Given the description of an element on the screen output the (x, y) to click on. 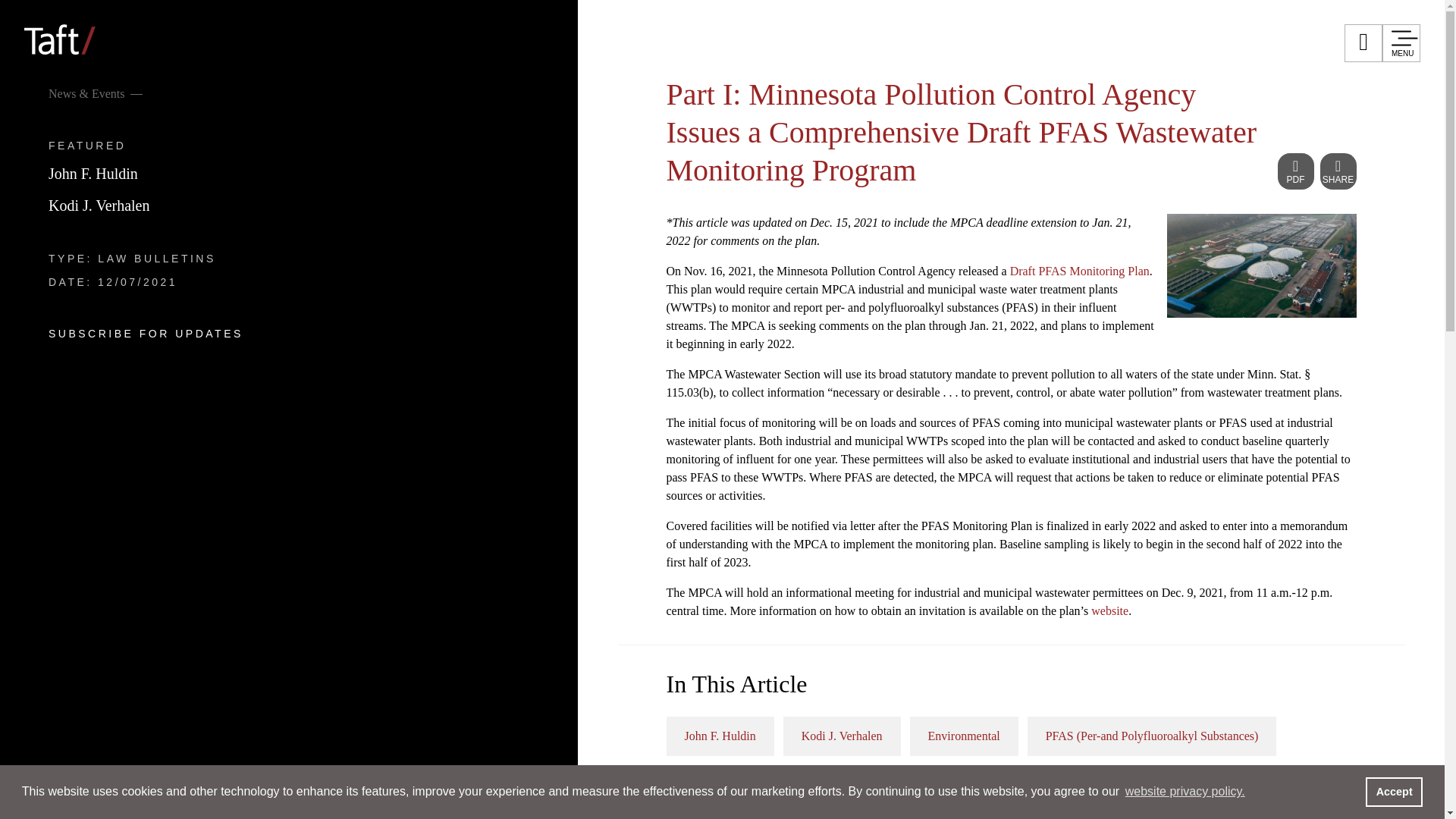
SUBSCRIBE FOR UPDATES (145, 333)
John F. Huldin (93, 173)
website privacy policy. (1184, 791)
Kodi J. Verhalen (98, 205)
Accept (1393, 791)
MENU (1401, 43)
